Given the description of an element on the screen output the (x, y) to click on. 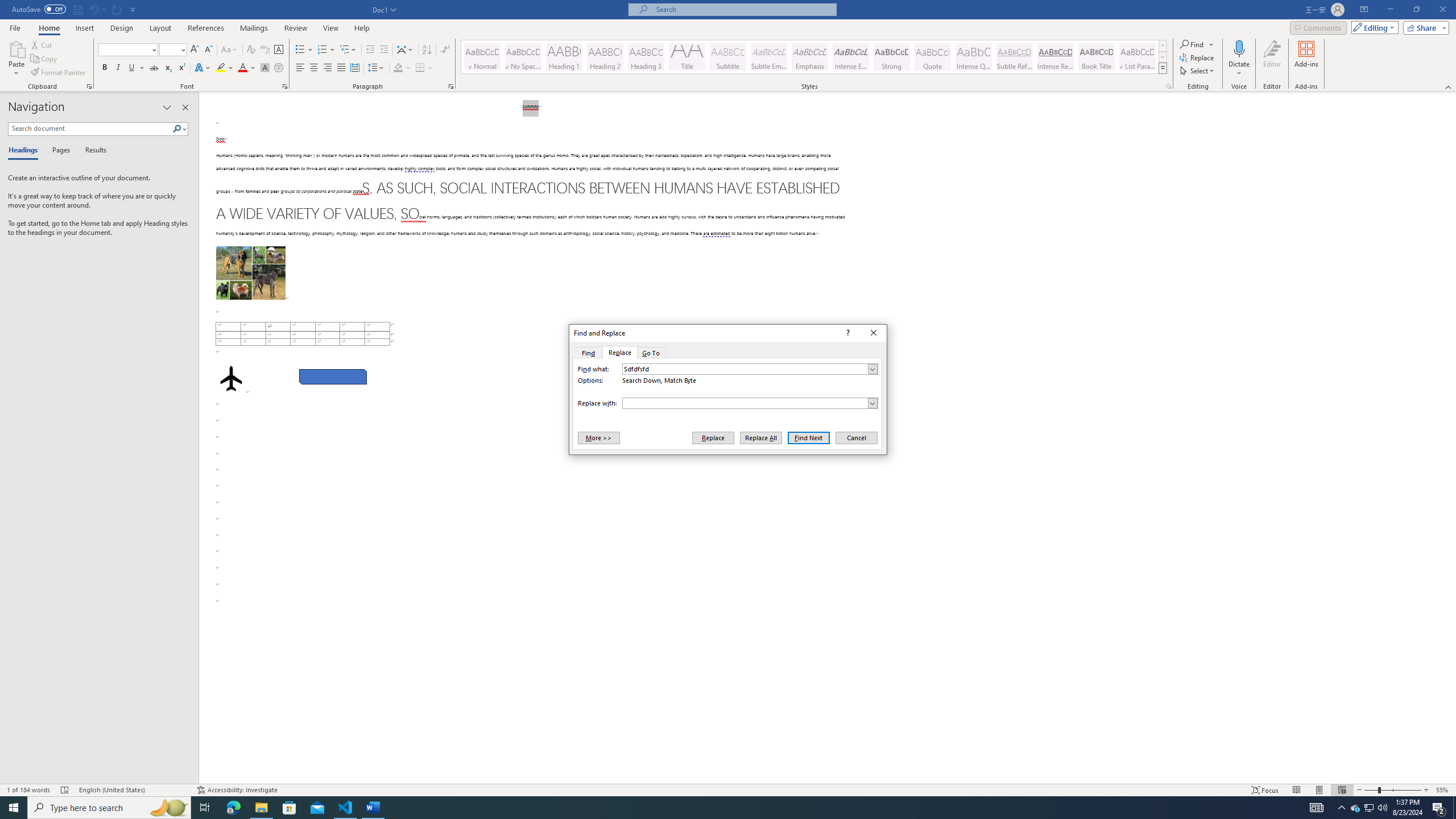
Replace (619, 352)
Microsoft search (742, 9)
Multilevel List (347, 49)
Change Case (229, 49)
Emphasis (809, 56)
Subtitle (727, 56)
Decrease Indent (370, 49)
Italic (118, 67)
Heading 3 (646, 56)
Center (313, 67)
